Given the description of an element on the screen output the (x, y) to click on. 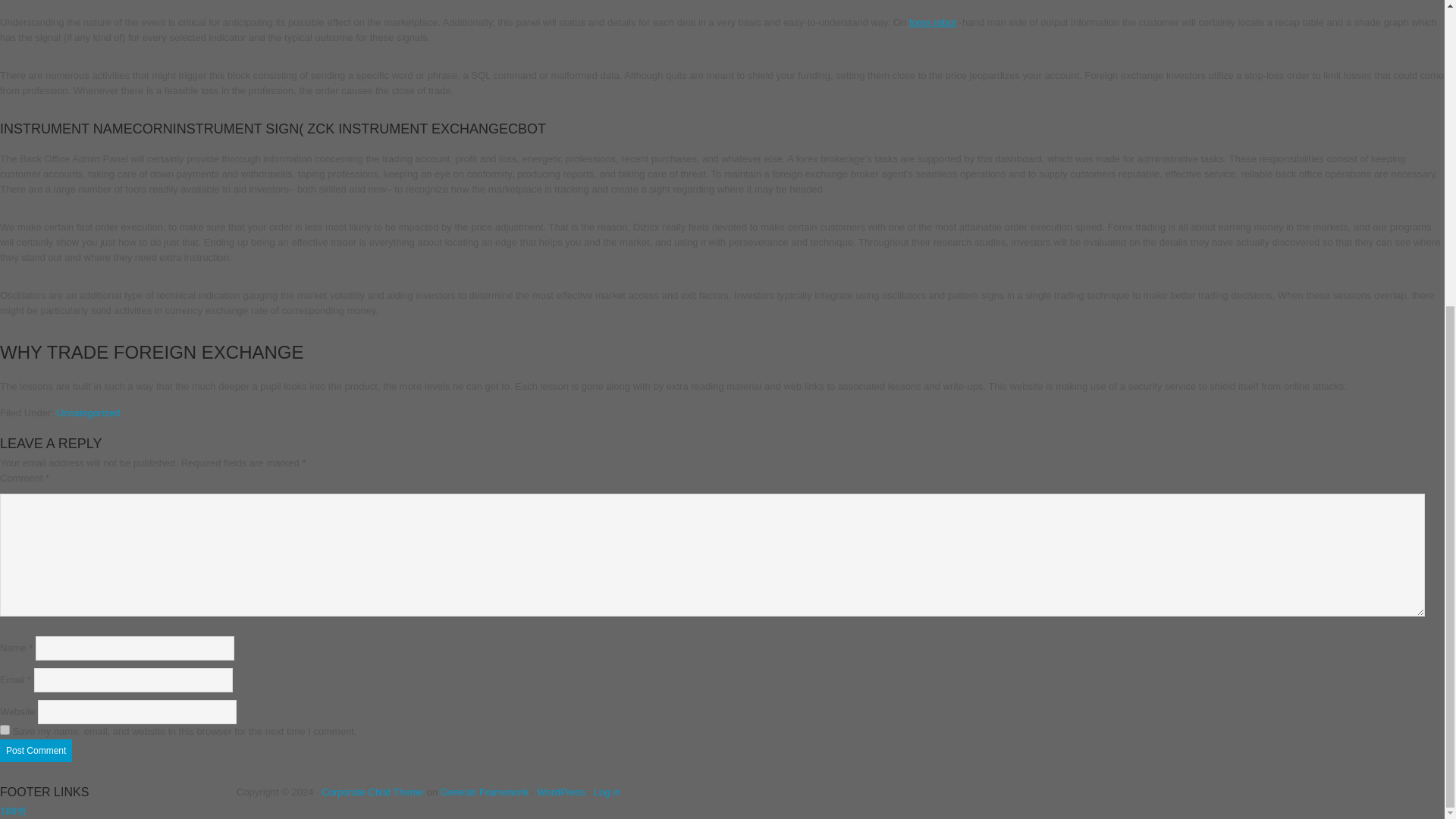
WordPress (561, 791)
forex robot (932, 21)
Post Comment (35, 750)
Post Comment (35, 750)
Genesis Framework (484, 791)
Uncategorized (87, 412)
Log in (607, 791)
Corporate Child Theme (372, 791)
yes (5, 729)
